Given the description of an element on the screen output the (x, y) to click on. 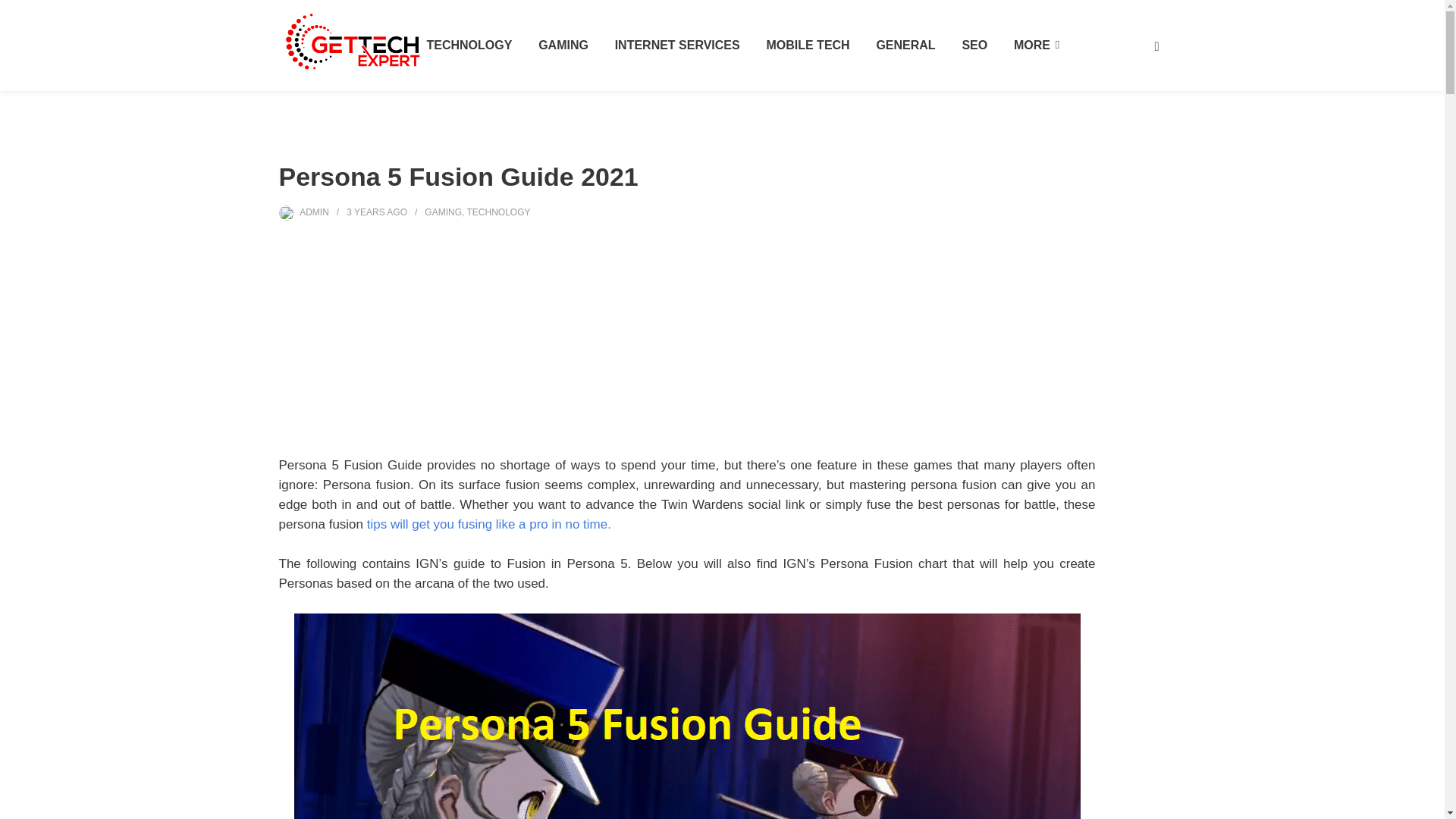
MORE (1035, 45)
GAMING (563, 45)
TECHNOLOGY (469, 45)
3 YEARS (365, 212)
MOBILE TECH (806, 45)
tips will get you fusing like a pro in no time. (488, 523)
TECHNOLOGY (497, 212)
GENERAL (905, 45)
ADMIN (314, 212)
